Given the description of an element on the screen output the (x, y) to click on. 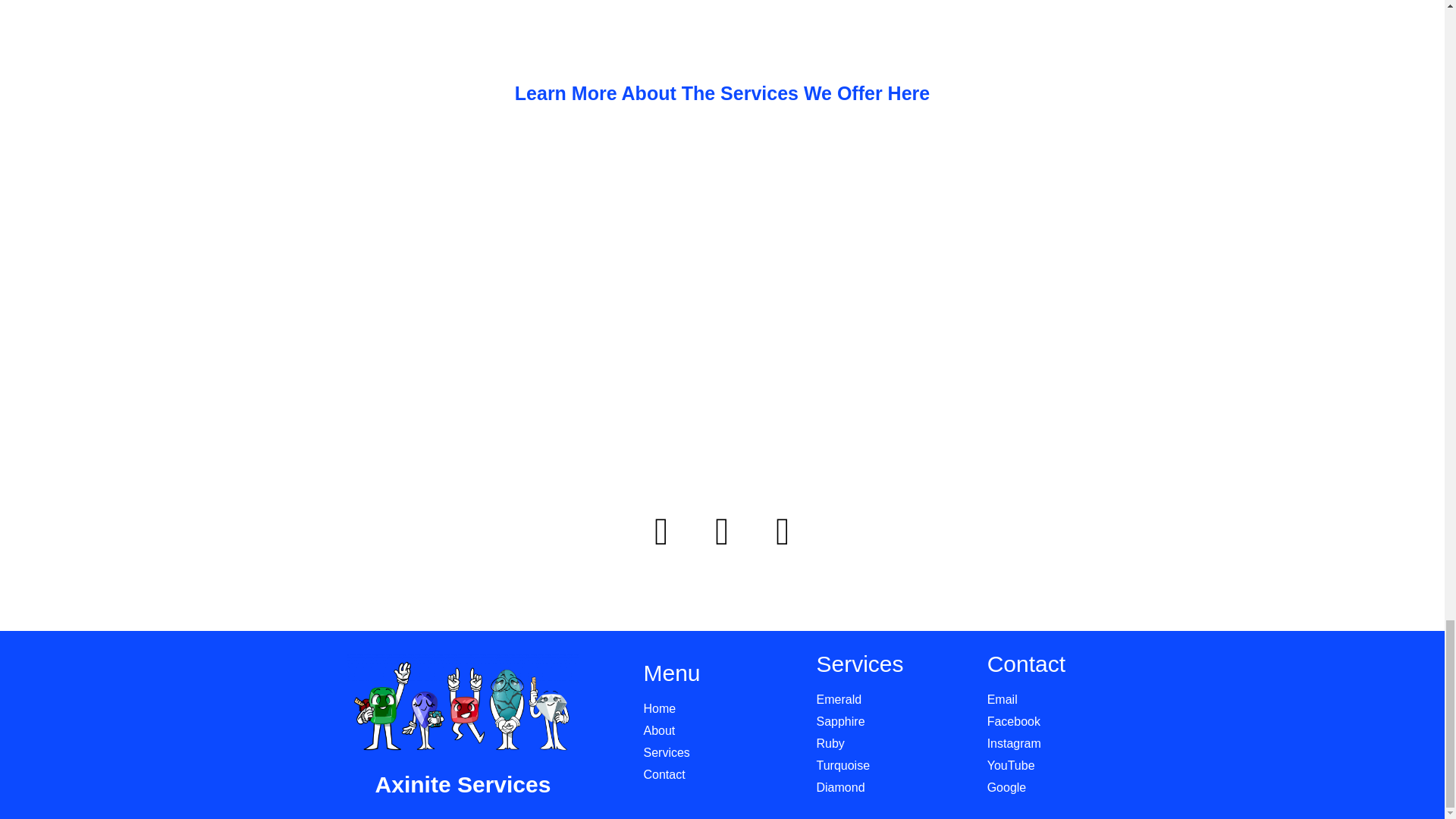
Emerald (893, 700)
Contact (721, 774)
Sapphire (893, 721)
Axinite Services (463, 784)
About (721, 730)
Home (721, 709)
Learn More About The Services We Offer Here (722, 93)
Services (721, 752)
